Given the description of an element on the screen output the (x, y) to click on. 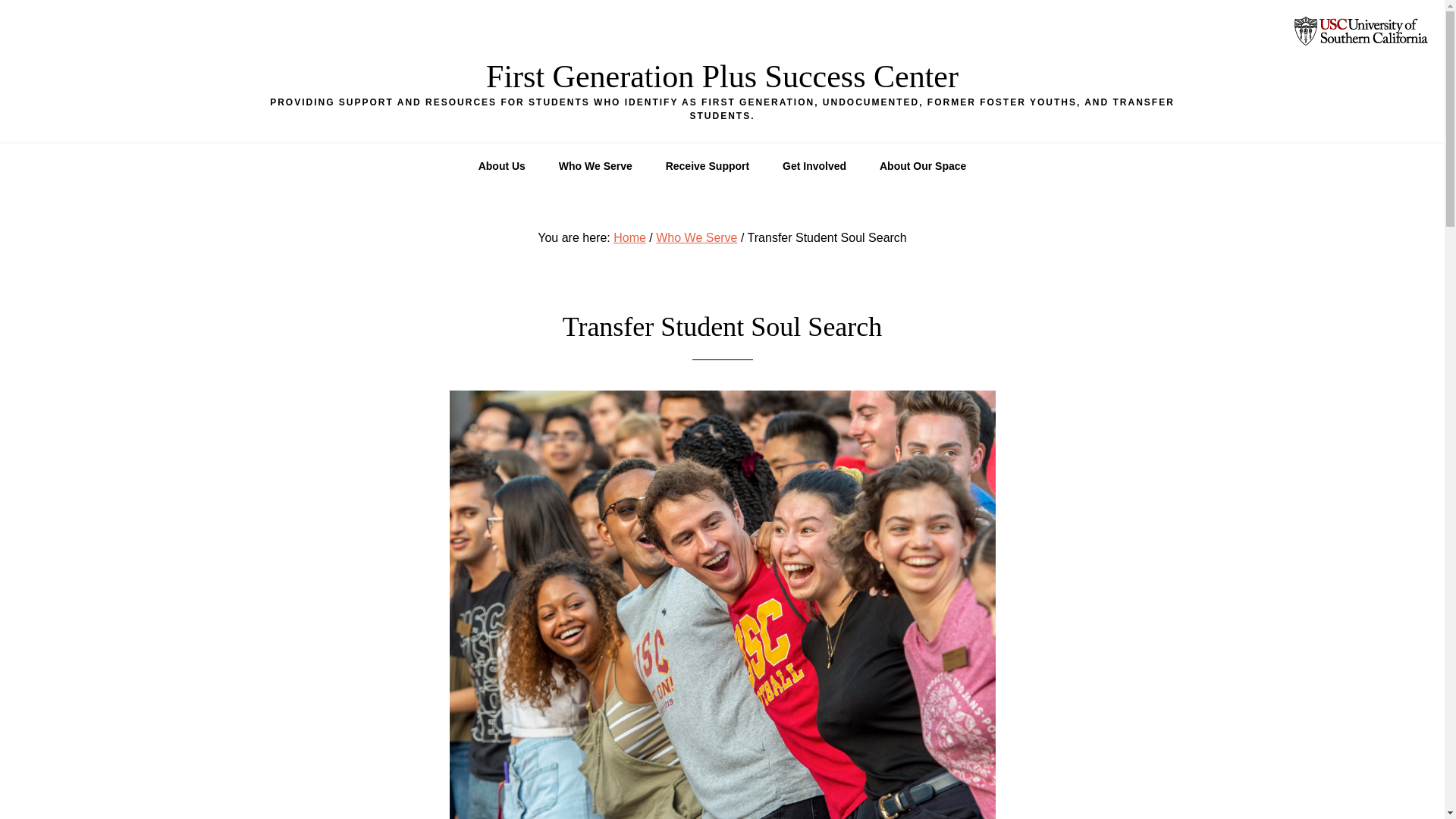
Home (629, 237)
Who We Serve (696, 237)
Who We Serve (595, 166)
About Us (501, 166)
First Generation Plus Success Center (722, 76)
About Our Space (922, 166)
Get Involved (814, 166)
Receive Support (707, 166)
